Given the description of an element on the screen output the (x, y) to click on. 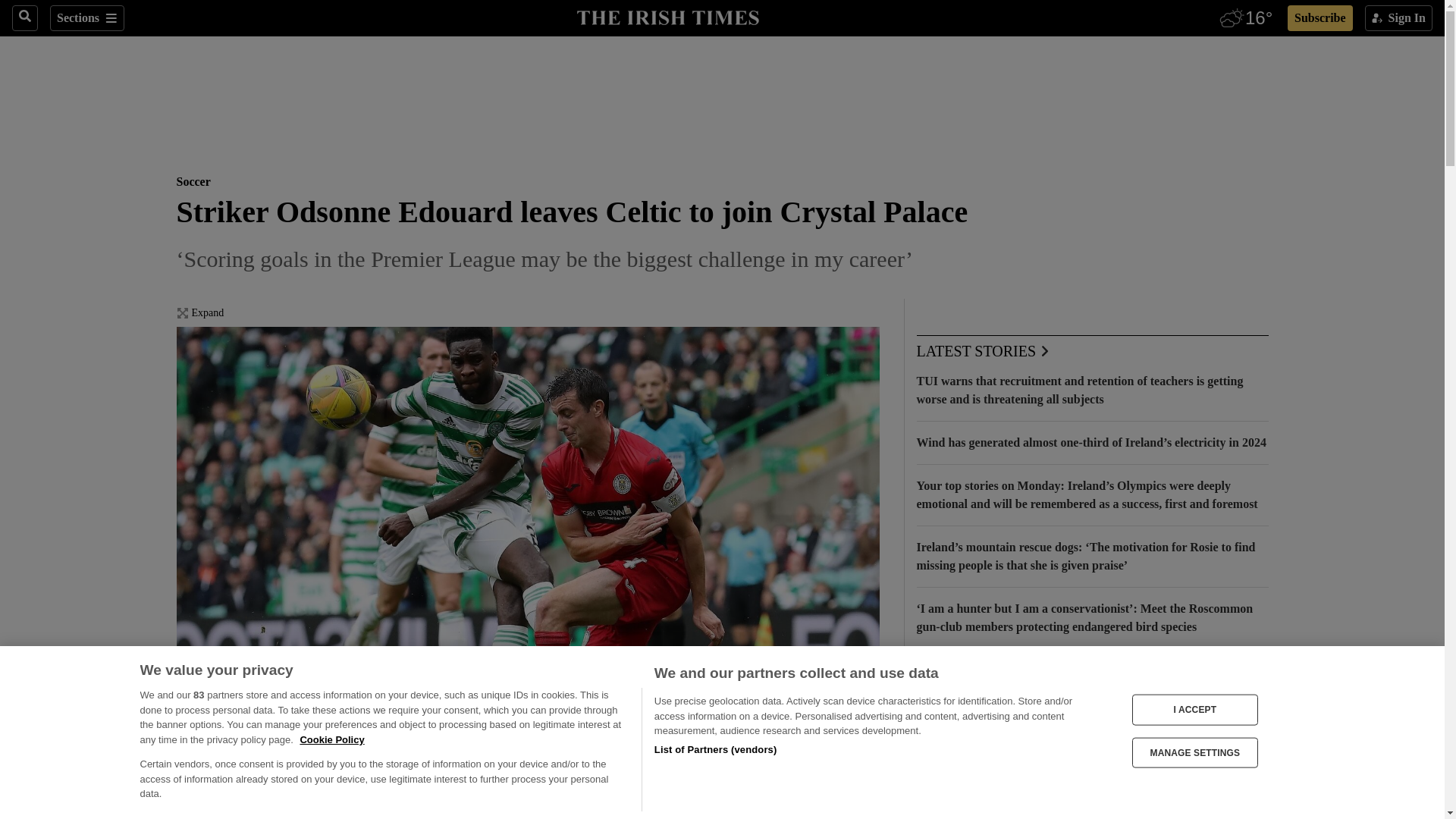
Subscribe (1319, 17)
Sign In (1398, 17)
The Irish Times (667, 16)
Sections (86, 17)
